Given the description of an element on the screen output the (x, y) to click on. 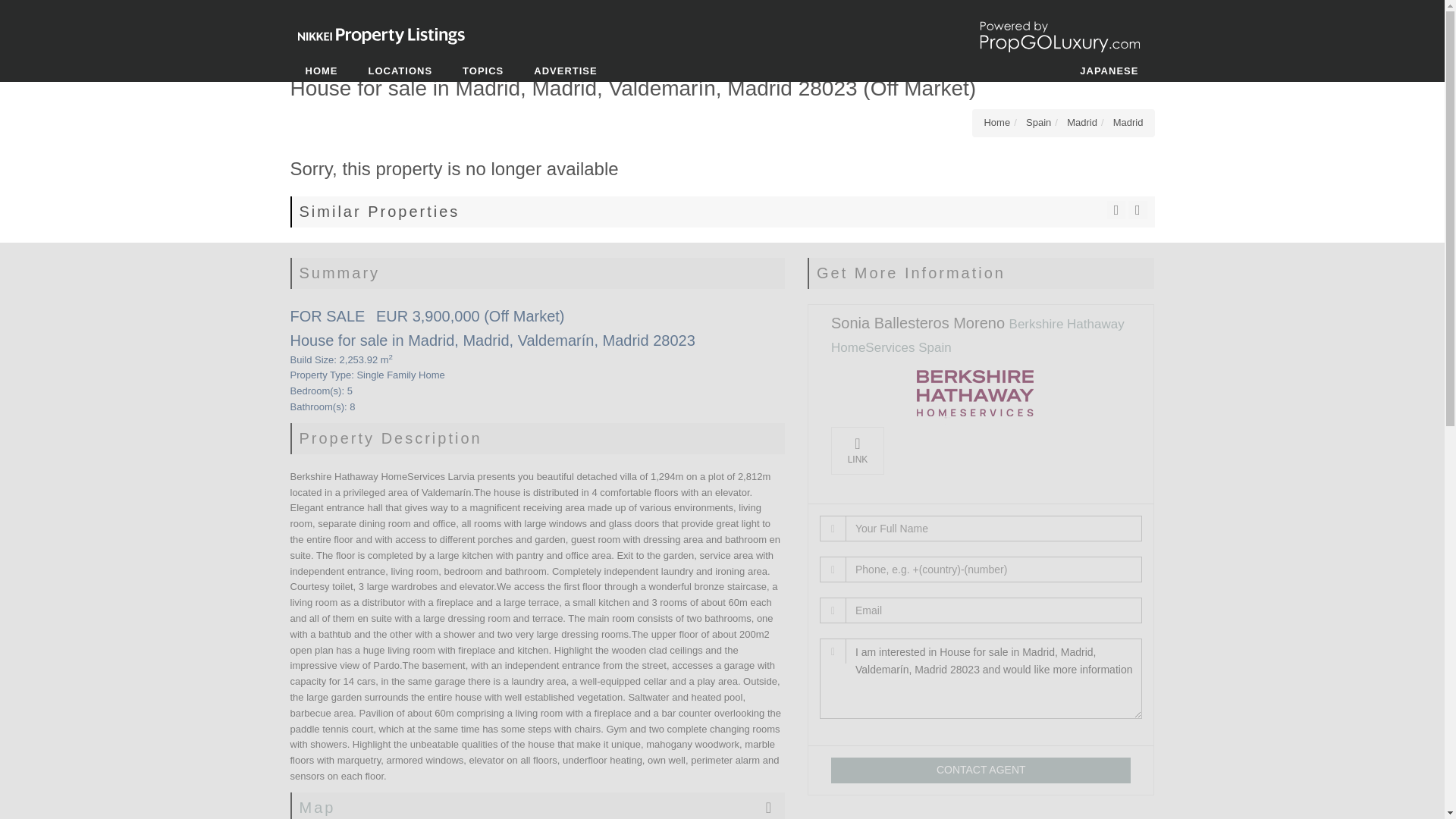
LOCATIONS (400, 71)
TOPICS (482, 71)
ADVERTISE (564, 71)
HOME (320, 71)
